Given the description of an element on the screen output the (x, y) to click on. 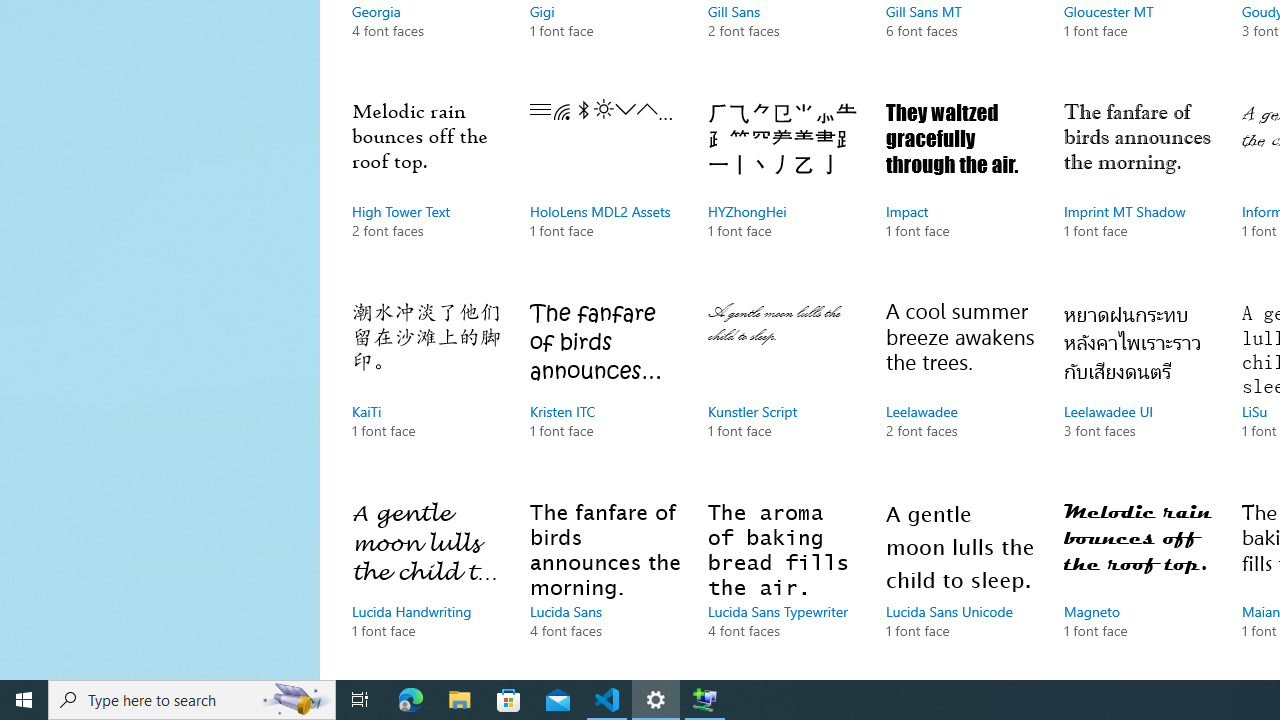
Lucida Sans Typewriter, 4 font faces (783, 584)
Settings - 1 running window (656, 699)
Magneto, 1 font face (1138, 584)
Kristen ITC, 1 font face (604, 390)
Extensible Wizards Host Process - 1 running window (704, 699)
Start (24, 699)
Impact, 1 font face (961, 190)
KaiTi, 1 font face (426, 390)
Lucida Sans, 4 font faces (604, 584)
Leelawadee UI, 3 font faces (1138, 390)
File Explorer (460, 699)
